Given the description of an element on the screen output the (x, y) to click on. 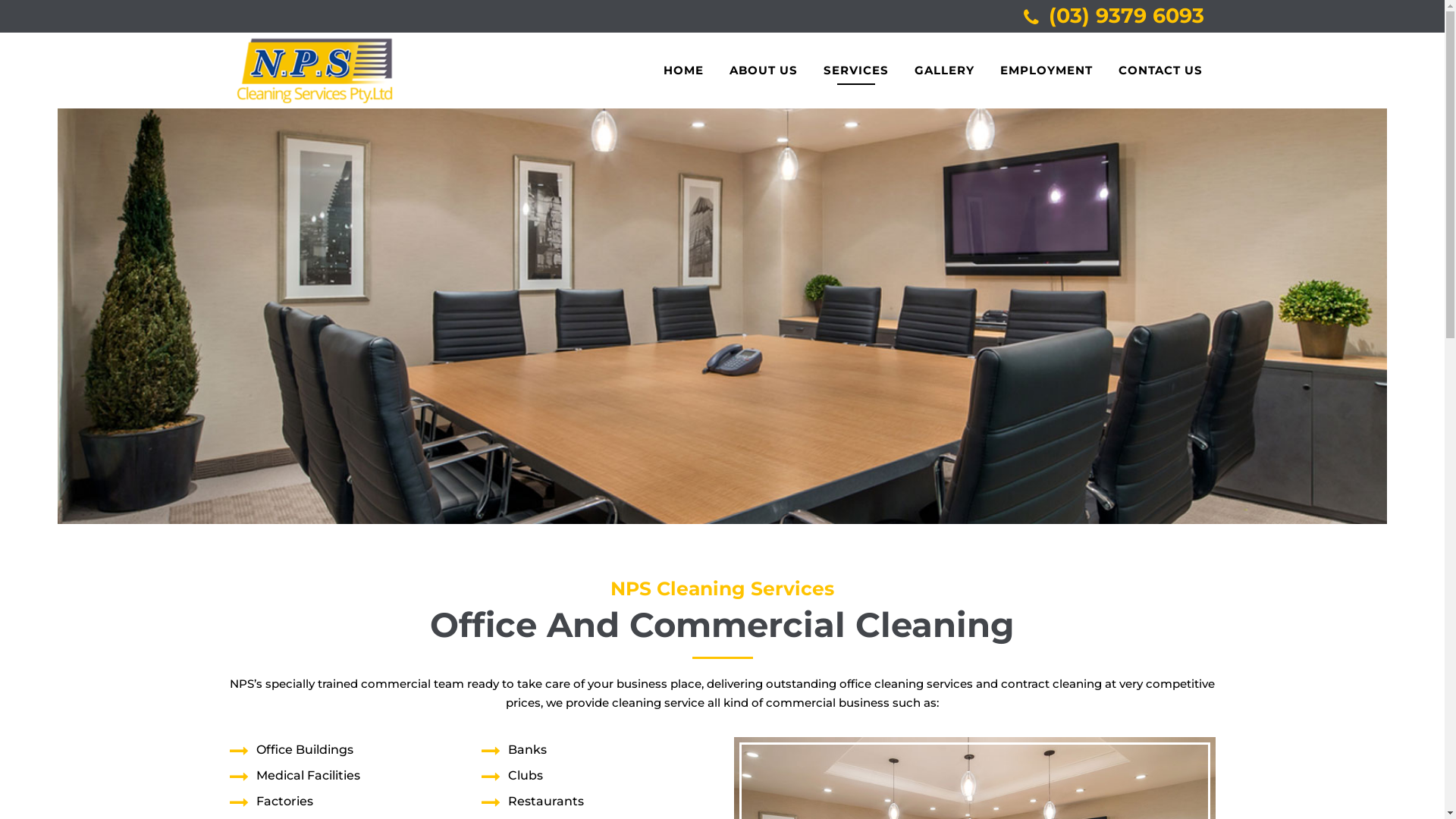
HOME Element type: text (683, 70)
EMPLOYMENT Element type: text (1046, 70)
ABOUT US Element type: text (762, 70)
GALLERY Element type: text (943, 70)
SERVICES Element type: text (854, 70)
CONTACT US Element type: text (1160, 70)
